Given the description of an element on the screen output the (x, y) to click on. 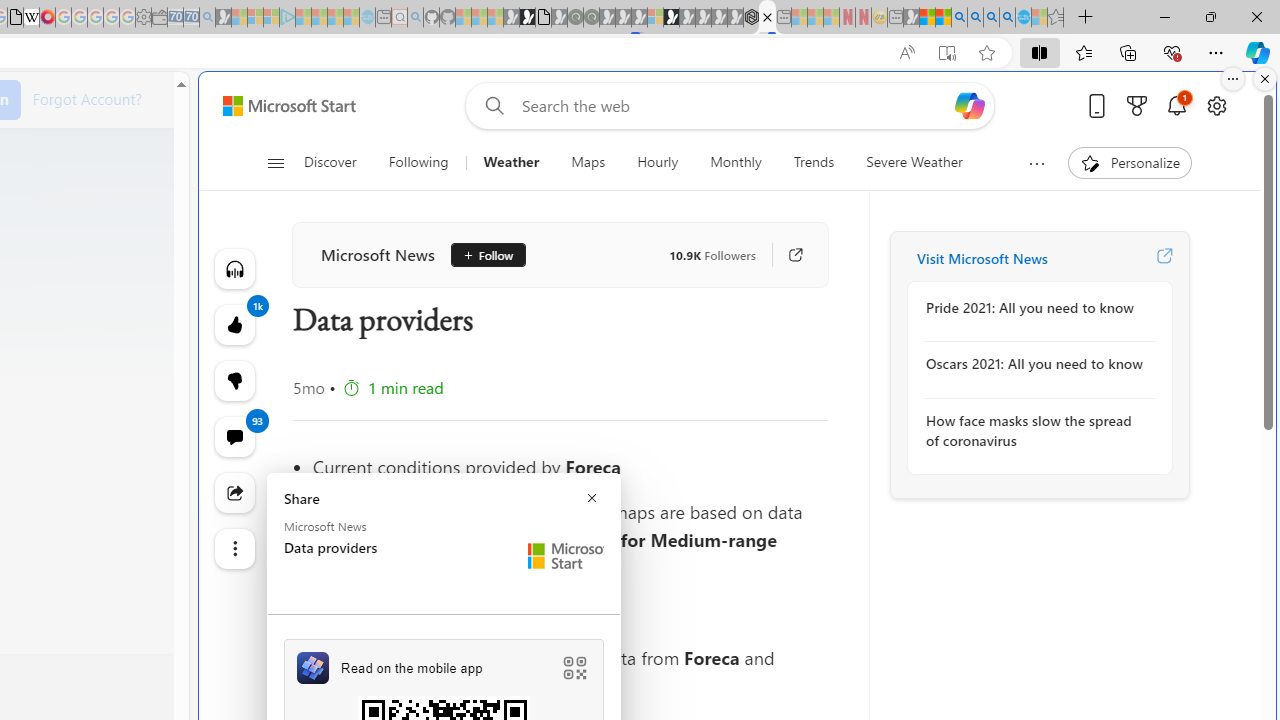
Go to publisher's site (786, 255)
